Given the description of an element on the screen output the (x, y) to click on. 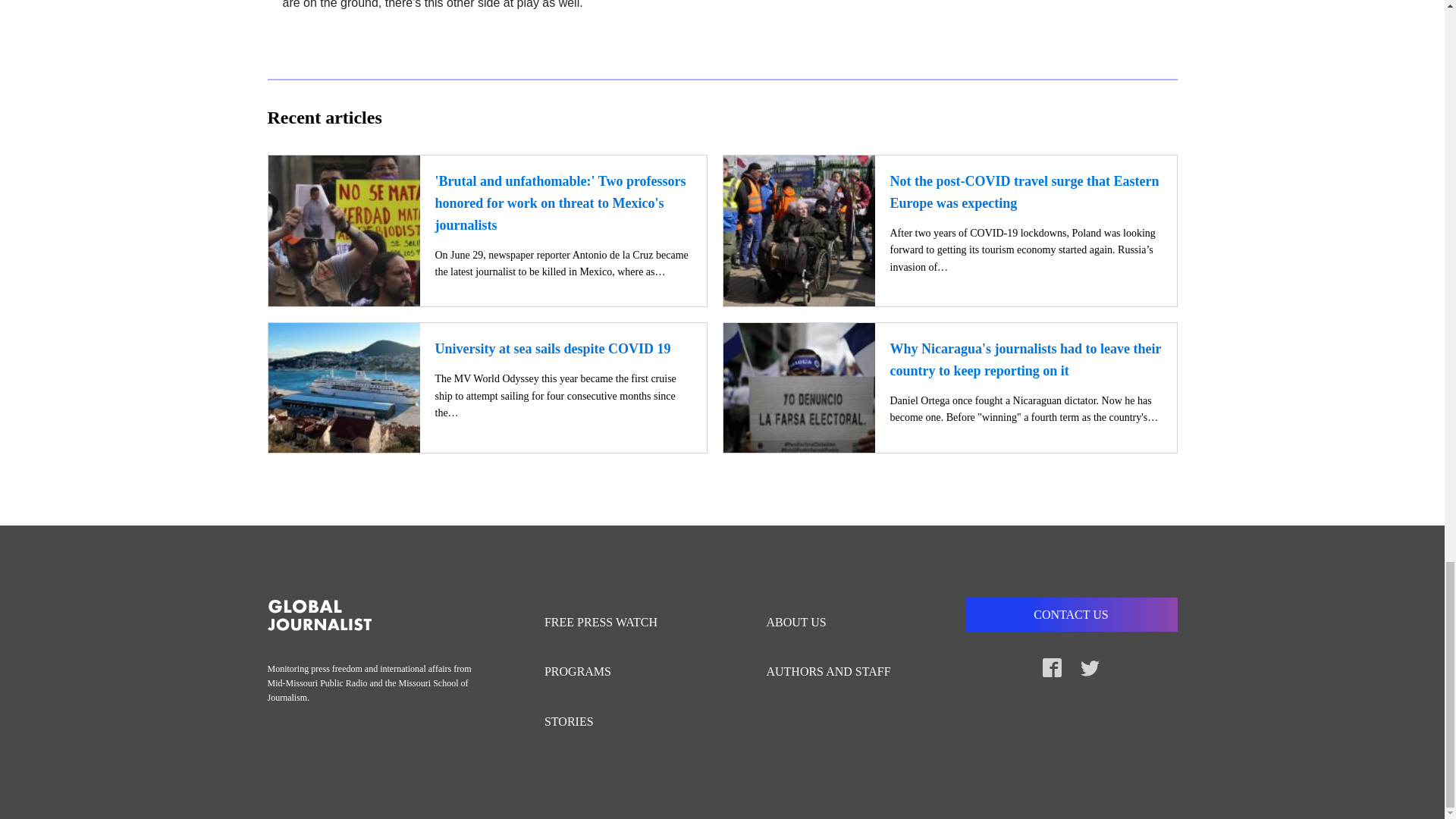
AUTHORS AND STAFF (835, 671)
University at sea sails despite COVID 19 (553, 348)
PROGRAMS (608, 671)
CONTACT US (1069, 614)
STORIES (608, 721)
ABOUT US (835, 622)
FREE PRESS WATCH (608, 622)
